Given the description of an element on the screen output the (x, y) to click on. 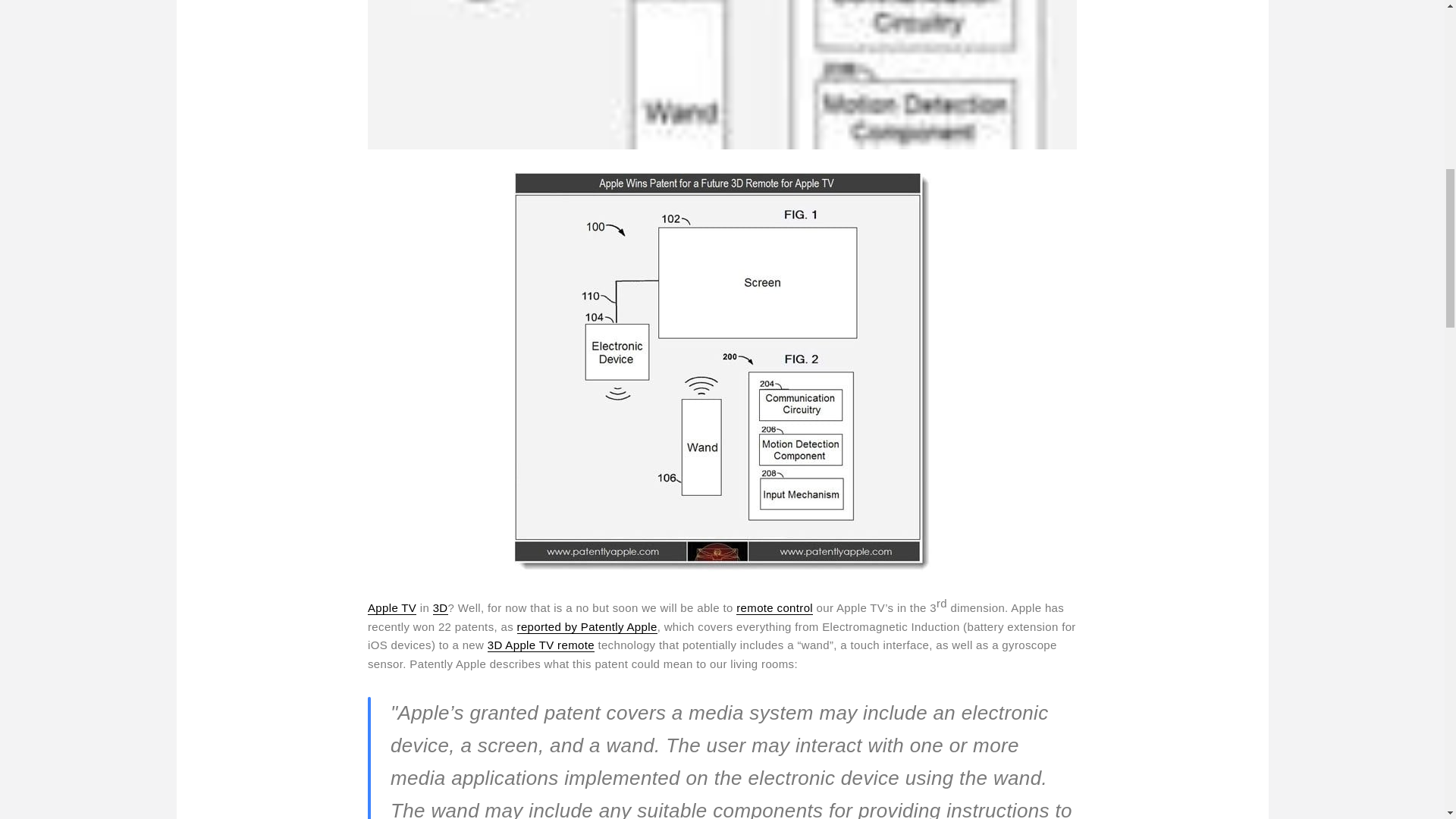
3D (440, 608)
3D Apple TV remote (540, 644)
remote control (774, 608)
Apple TV (392, 608)
reported by Patently Apple (587, 626)
